Given the description of an element on the screen output the (x, y) to click on. 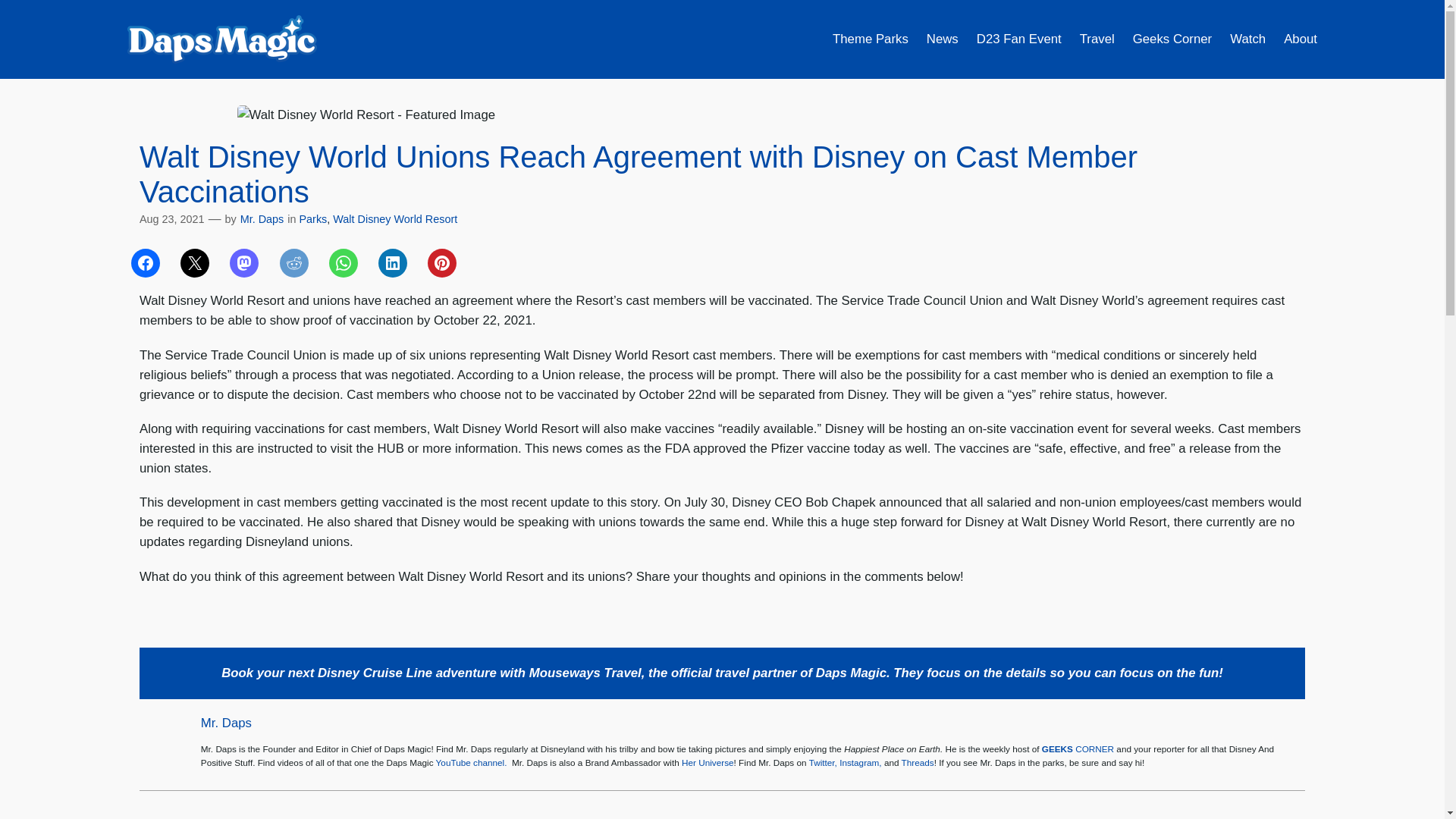
News (942, 39)
Parks (313, 218)
Theme Parks (870, 39)
D23 Fan Event (1018, 39)
Instagram, (861, 762)
Walt Disney World Resort (395, 218)
Geeks Corner (1171, 39)
Watch (1247, 39)
YouTube channel. (470, 762)
Mr. Daps (225, 722)
Twitter, (823, 762)
Her Universe (707, 762)
Aug 23, 2021 (172, 218)
About (1300, 39)
